Given the description of an element on the screen output the (x, y) to click on. 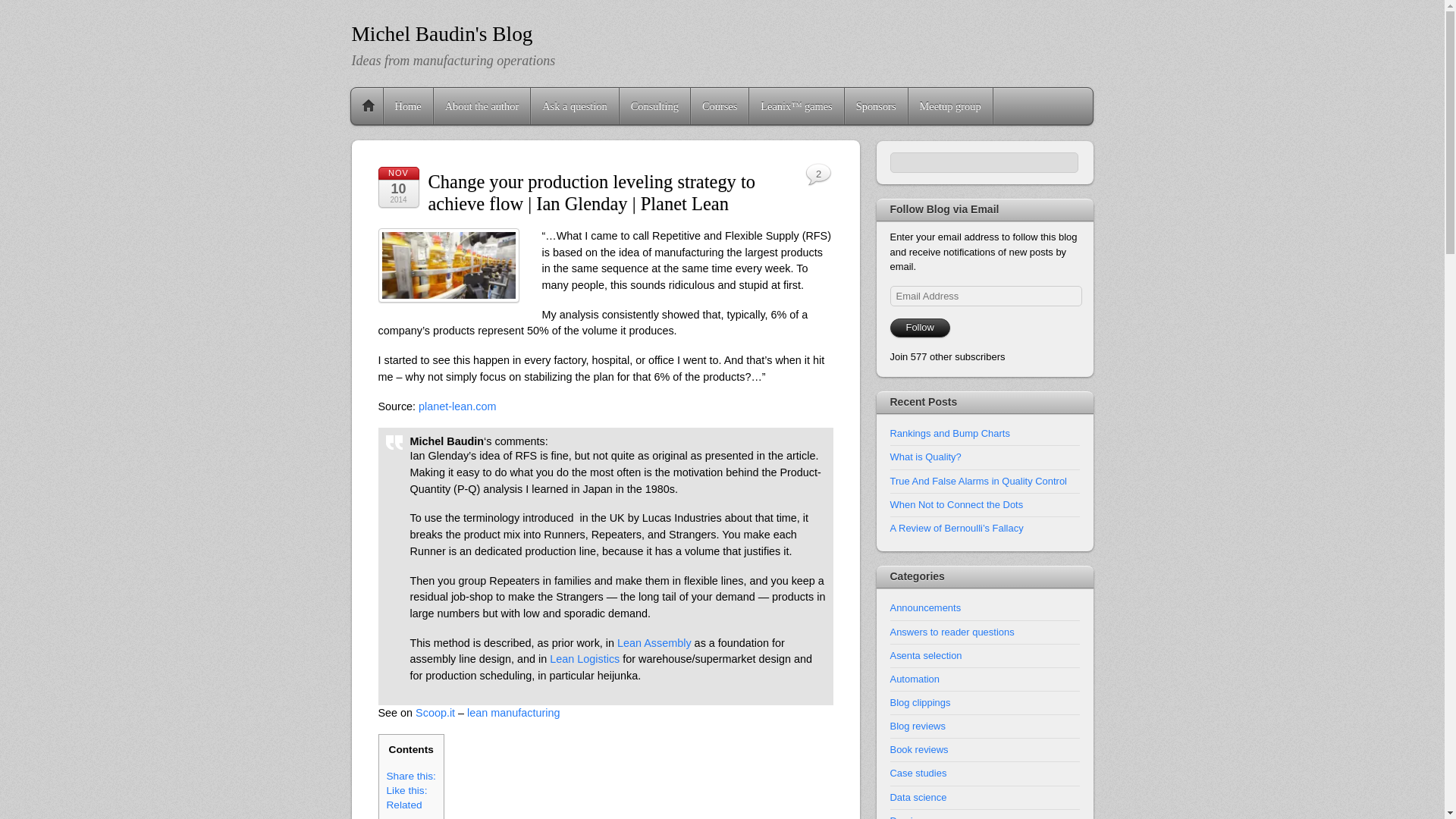
Sponsors (875, 105)
planet-lean.com (457, 406)
Like this: (407, 790)
Consulting (655, 105)
Lean Logistics (585, 658)
Ask a question (574, 105)
Share this: (411, 776)
Scoop.it (434, 712)
Search (983, 162)
Lean Assembly (654, 643)
